Given the description of an element on the screen output the (x, y) to click on. 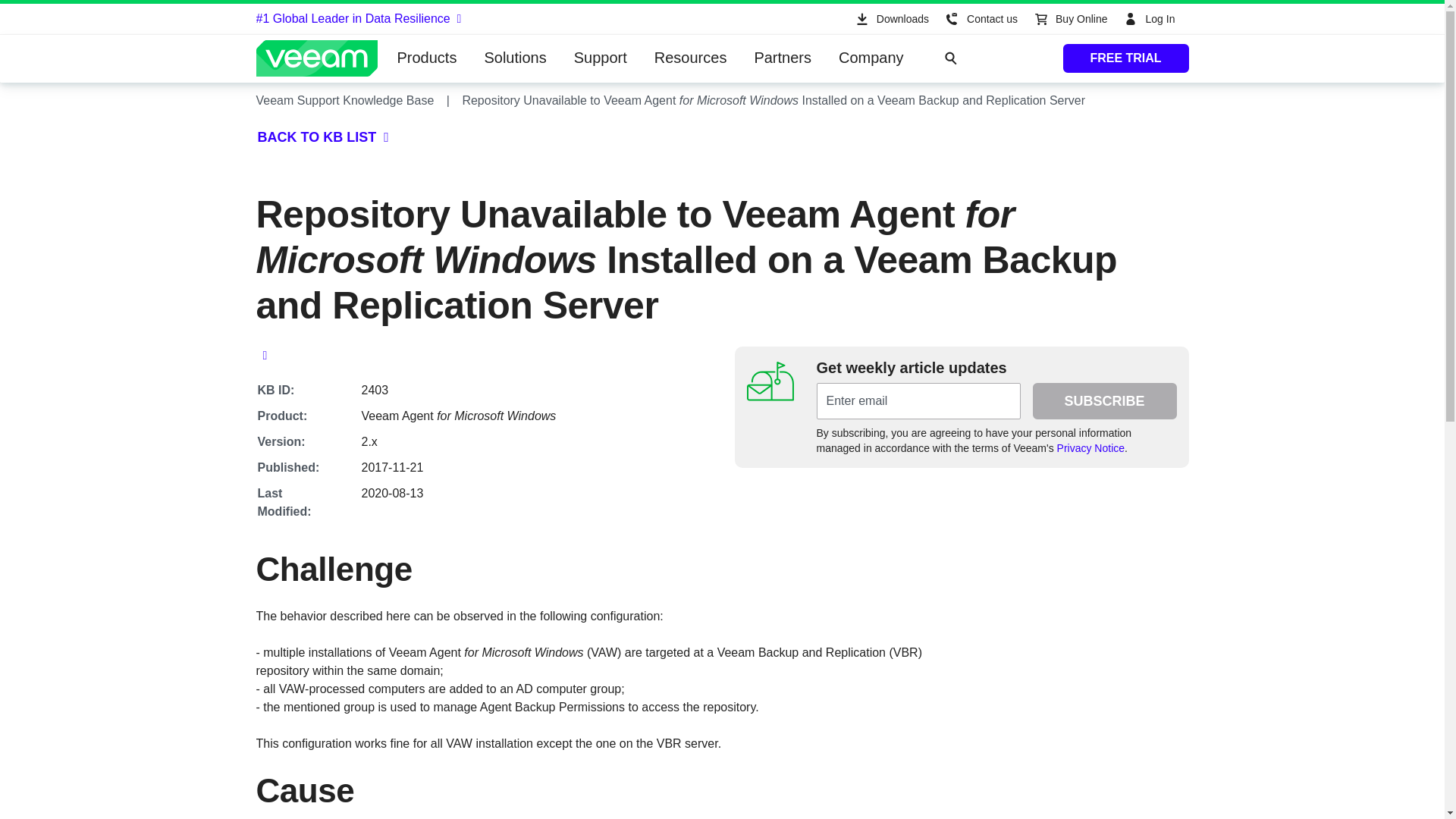
Contact us (980, 19)
Print page (265, 359)
Buy Online (1070, 19)
Products (427, 58)
Log In (1151, 19)
Downloads (890, 19)
